Given the description of an element on the screen output the (x, y) to click on. 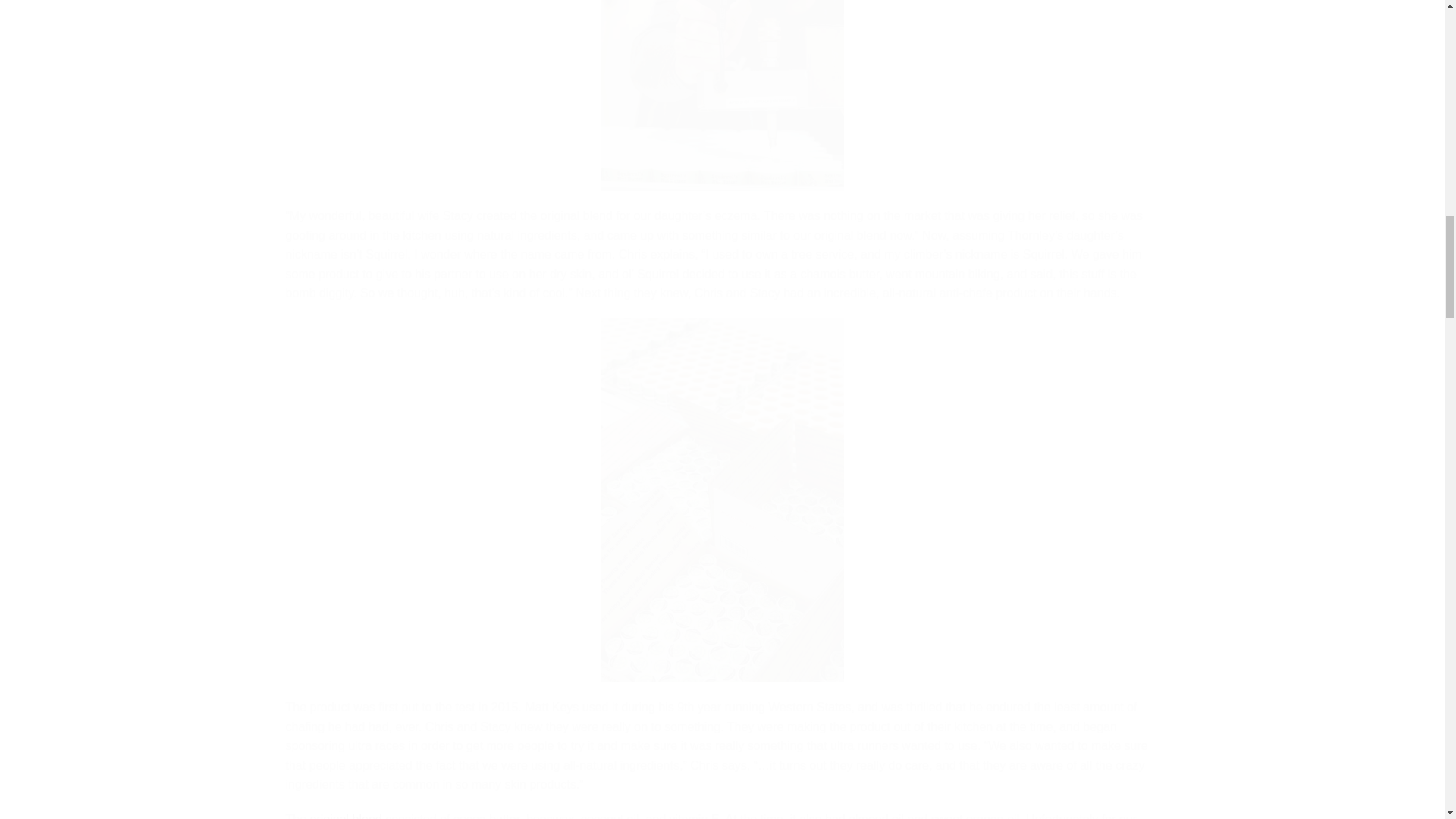
original blend (345, 816)
